Given the description of an element on the screen output the (x, y) to click on. 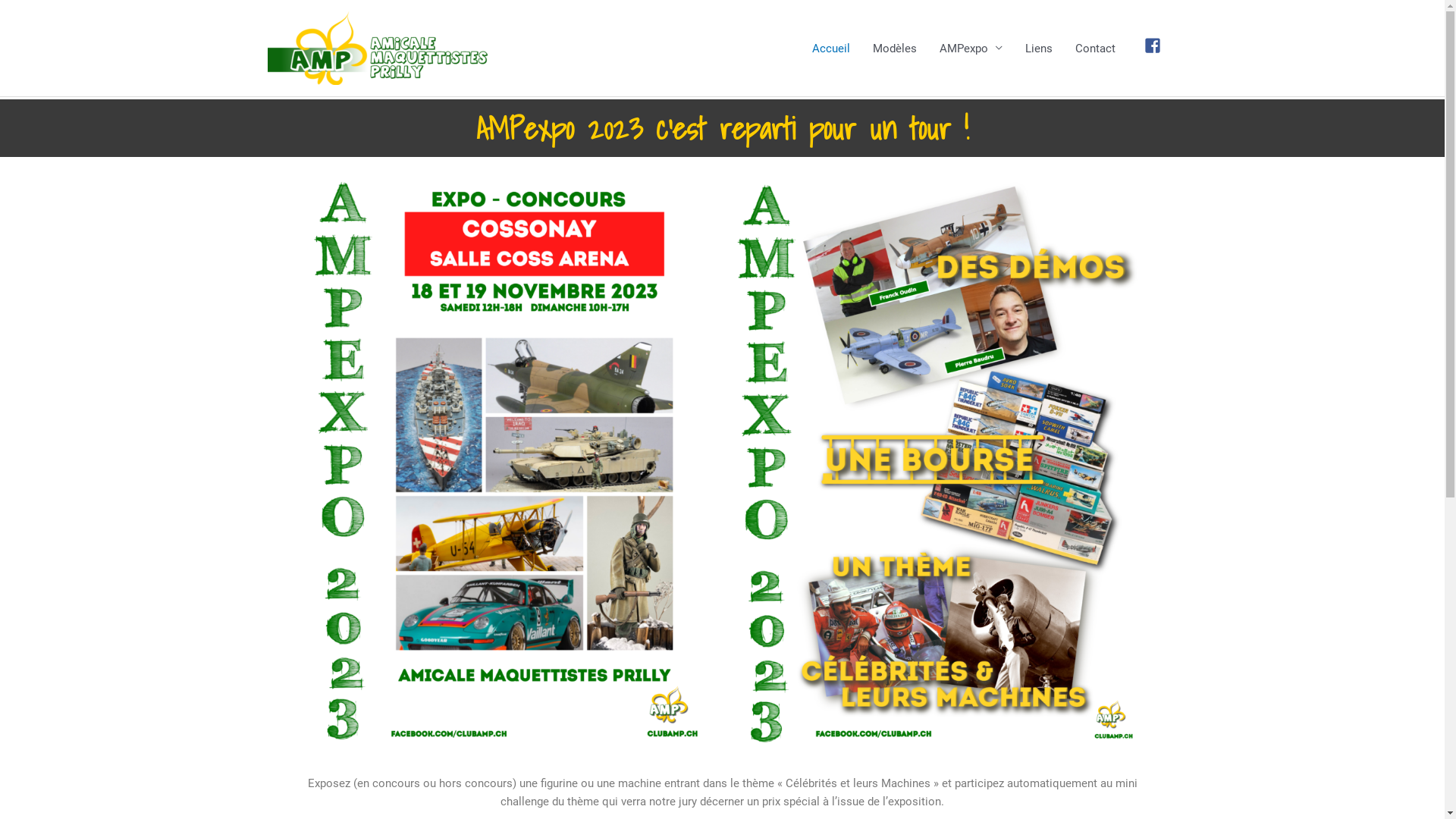
AMPexpo Element type: text (970, 48)
Liens Element type: text (1038, 48)
Accueil Element type: text (830, 48)
Contact Element type: text (1094, 48)
